Given the description of an element on the screen output the (x, y) to click on. 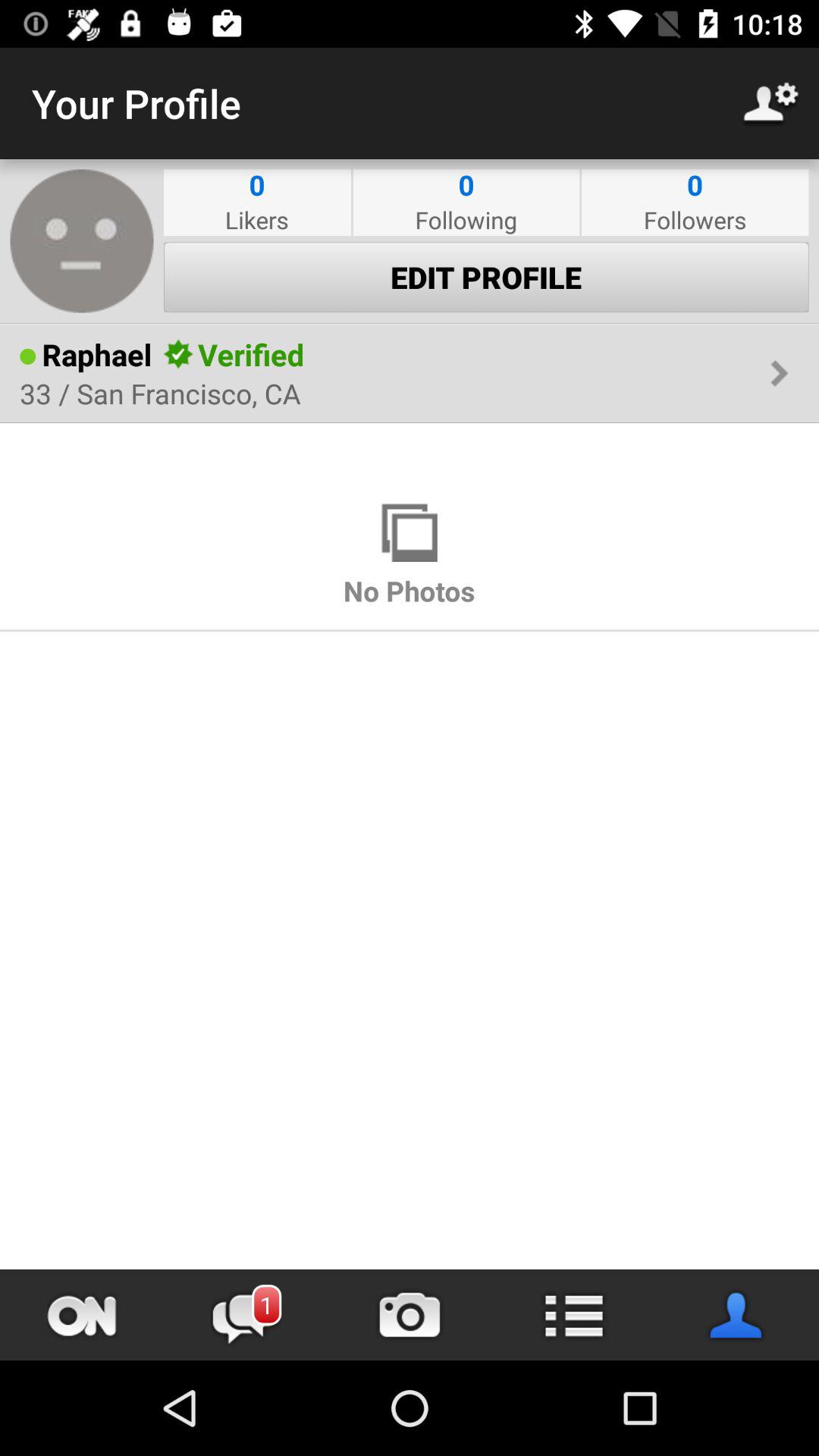
change profile photo (81, 240)
